Given the description of an element on the screen output the (x, y) to click on. 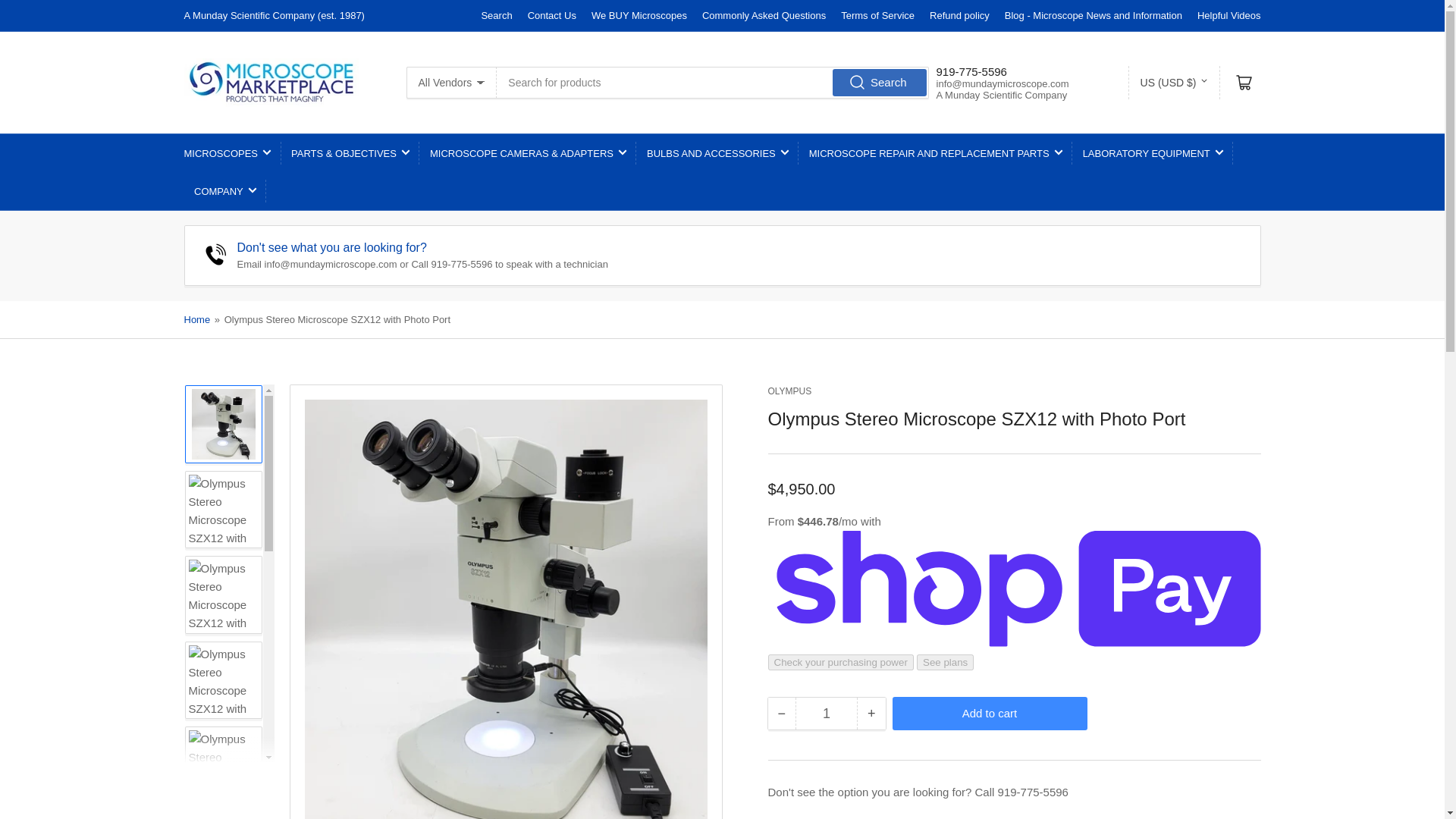
Commonly Asked Questions (763, 15)
Olympus (788, 390)
Blog - Microscope News and Information (1093, 15)
Refund policy (960, 15)
Search (879, 82)
Contact Us (551, 15)
Helpful Videos (1228, 15)
Terms of Service (877, 15)
We BUY Microscopes (639, 15)
1 (825, 713)
Search (496, 15)
